Given the description of an element on the screen output the (x, y) to click on. 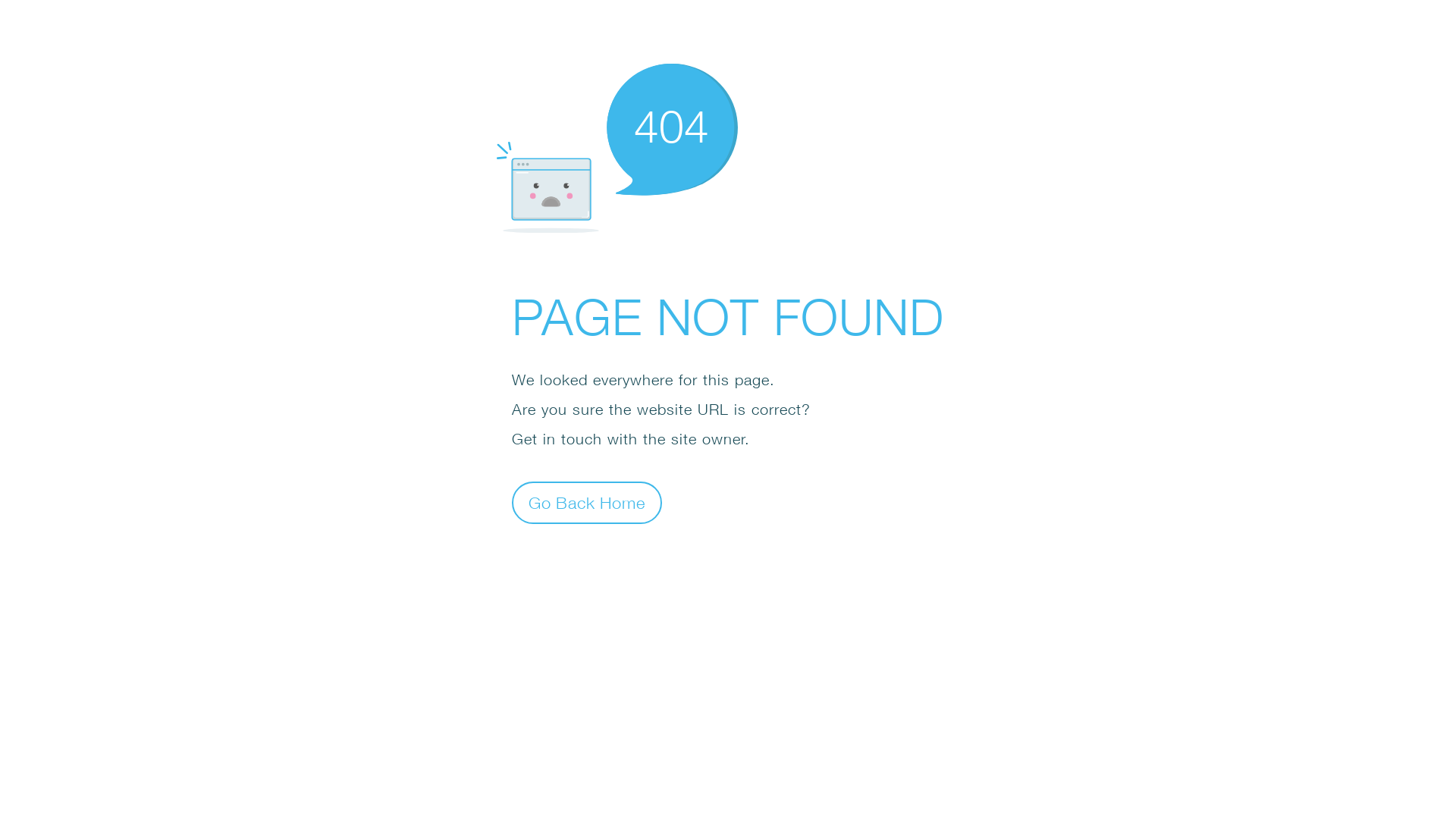
Go Back Home Element type: text (586, 502)
